Given the description of an element on the screen output the (x, y) to click on. 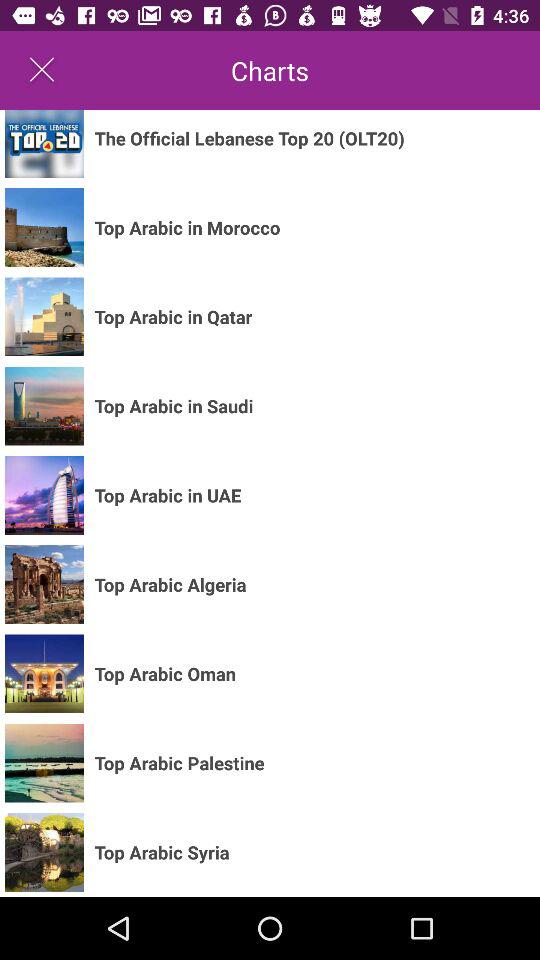
press the item below the charts icon (249, 137)
